Given the description of an element on the screen output the (x, y) to click on. 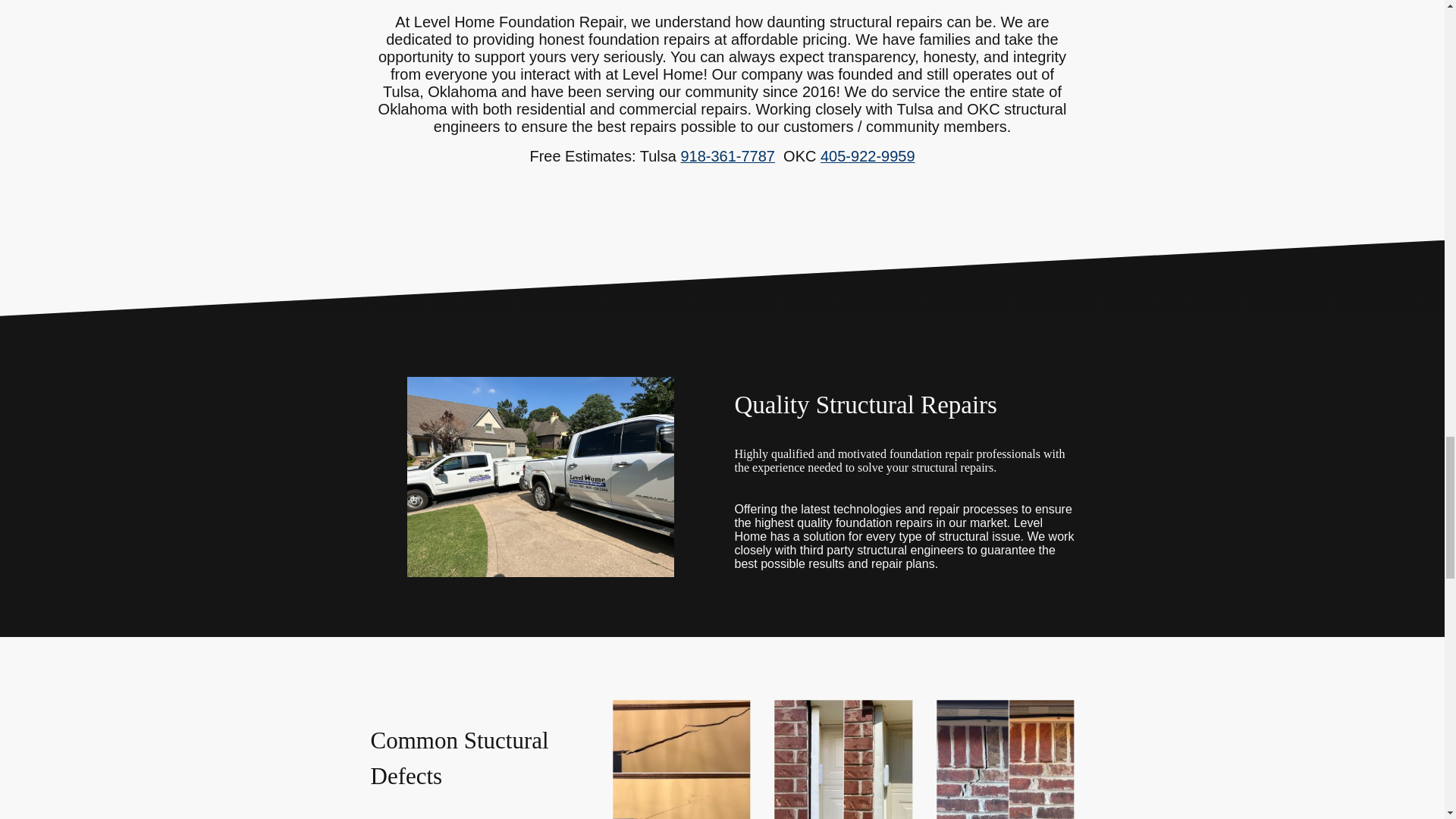
Brick Separations Foundation Issues (1005, 760)
918-361-7787 (726, 156)
Foundation Settlement Separation Damage (843, 760)
Sheetrock Cracks From Foundation Settlement (680, 760)
405-922-9959 (868, 156)
